Given the description of an element on the screen output the (x, y) to click on. 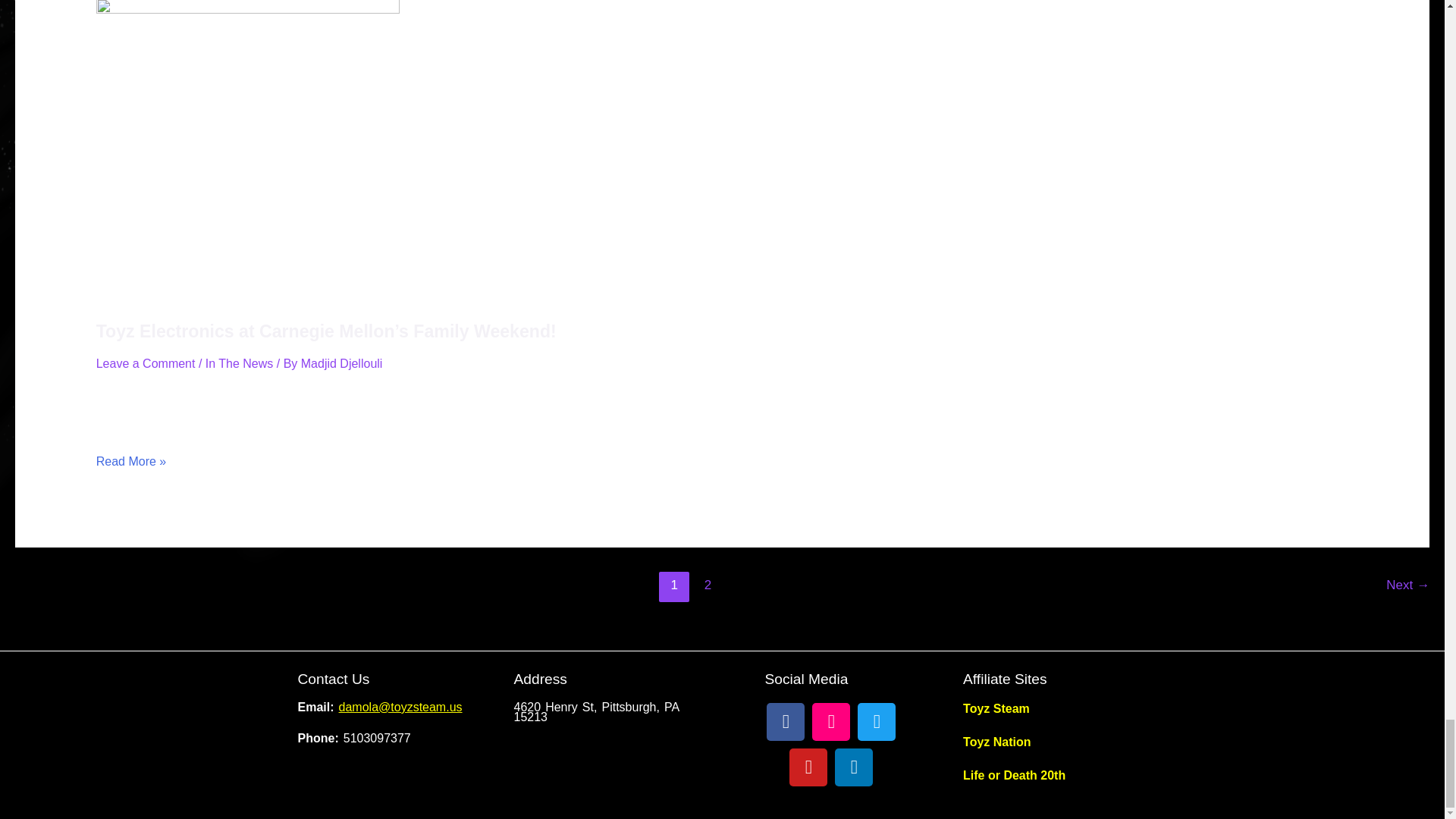
4620 Henry St, Pittsburgh, PA 15213 (613, 774)
View all posts by Madjid Djellouli (341, 363)
